Given the description of an element on the screen output the (x, y) to click on. 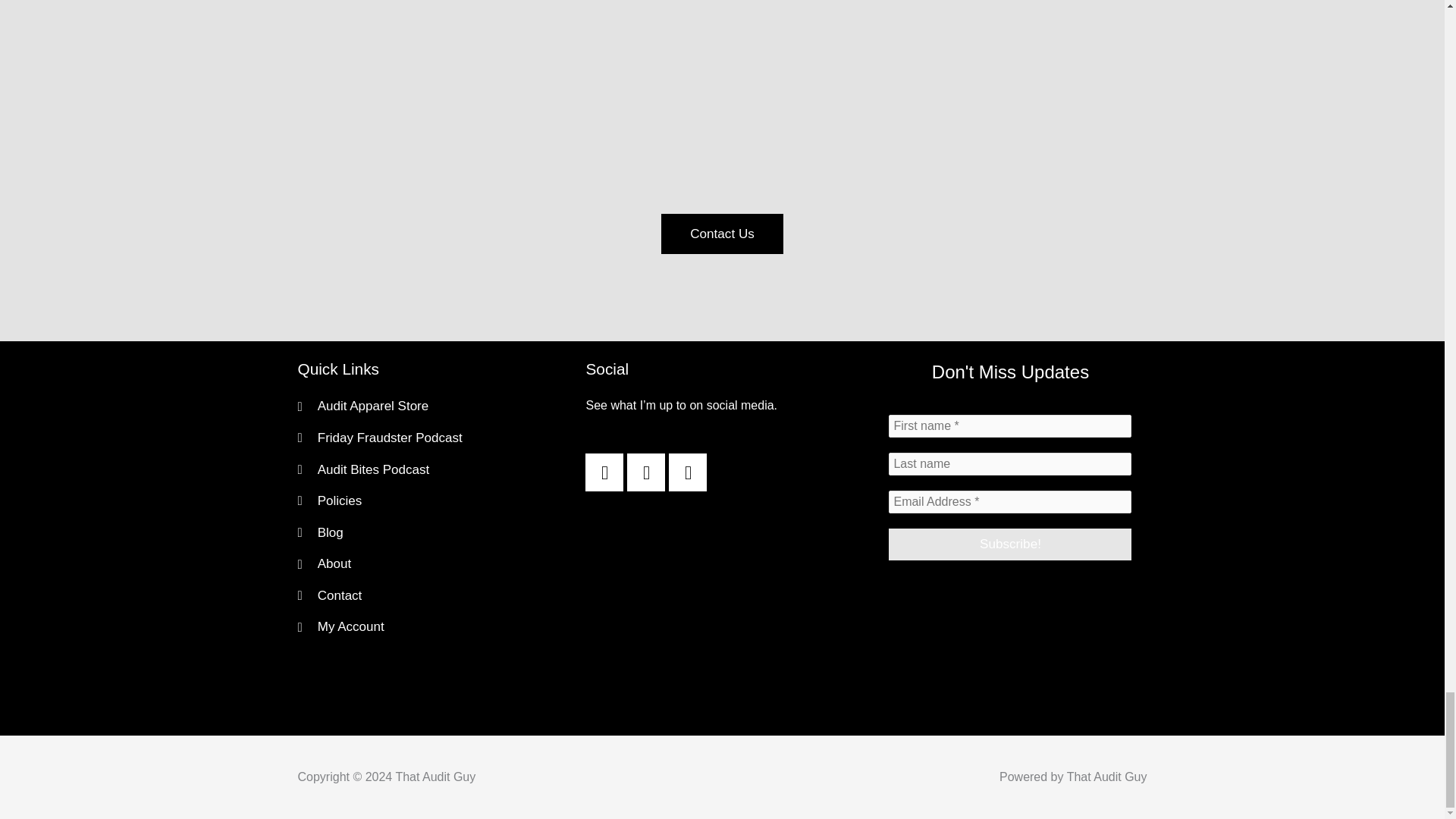
Subscribe! (1009, 544)
Last name (1009, 463)
Email Address (1009, 501)
First name (1009, 425)
